Given the description of an element on the screen output the (x, y) to click on. 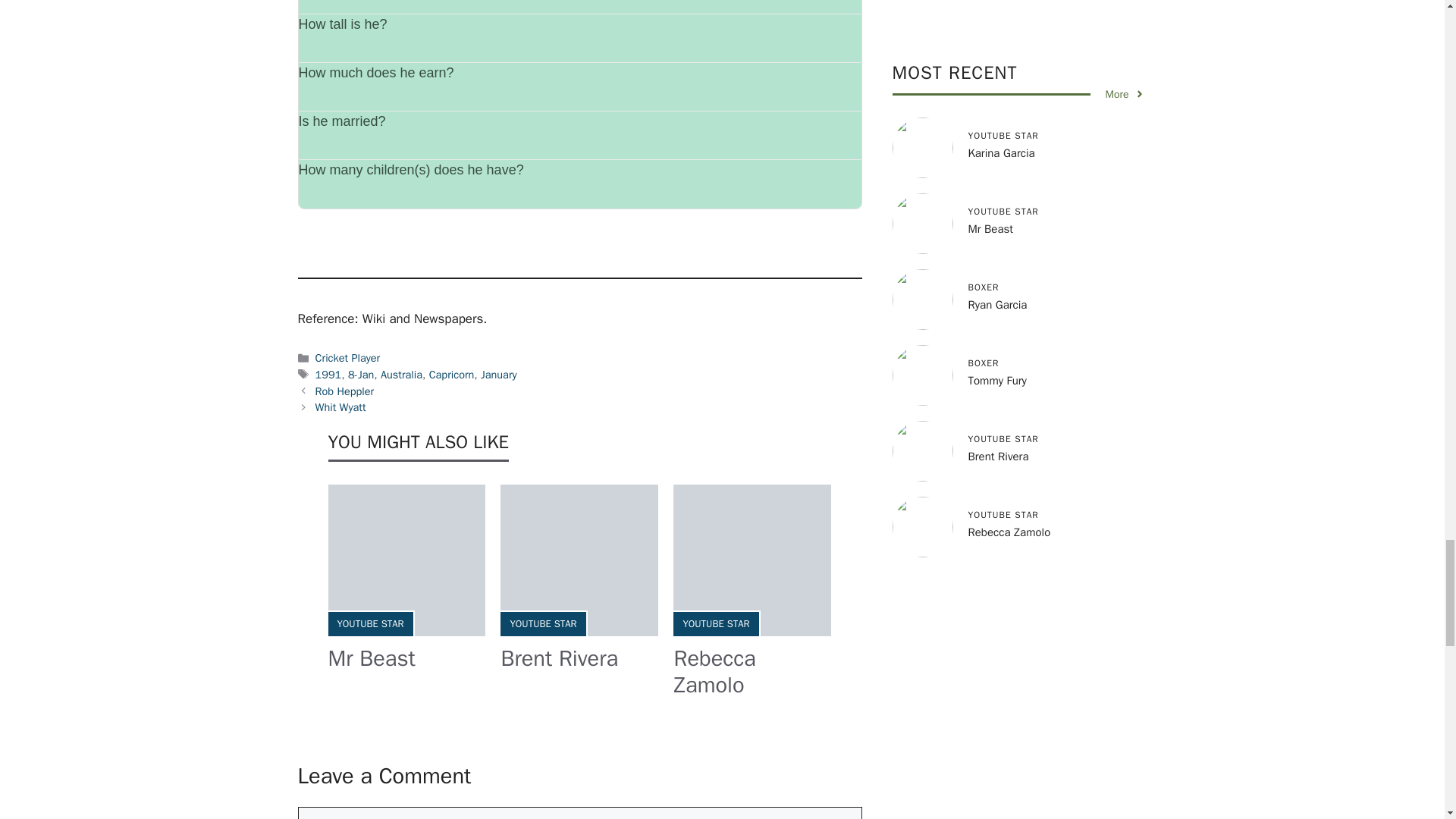
8-Jan (360, 374)
Whit Wyatt (340, 407)
Mr Beast (370, 658)
Australia (401, 374)
YOUTUBE STAR (369, 623)
Rebecca Zamolo (713, 671)
YOUTUBE STAR (715, 623)
Rob Heppler (344, 391)
YOUTUBE STAR (542, 623)
January (498, 374)
